Given the description of an element on the screen output the (x, y) to click on. 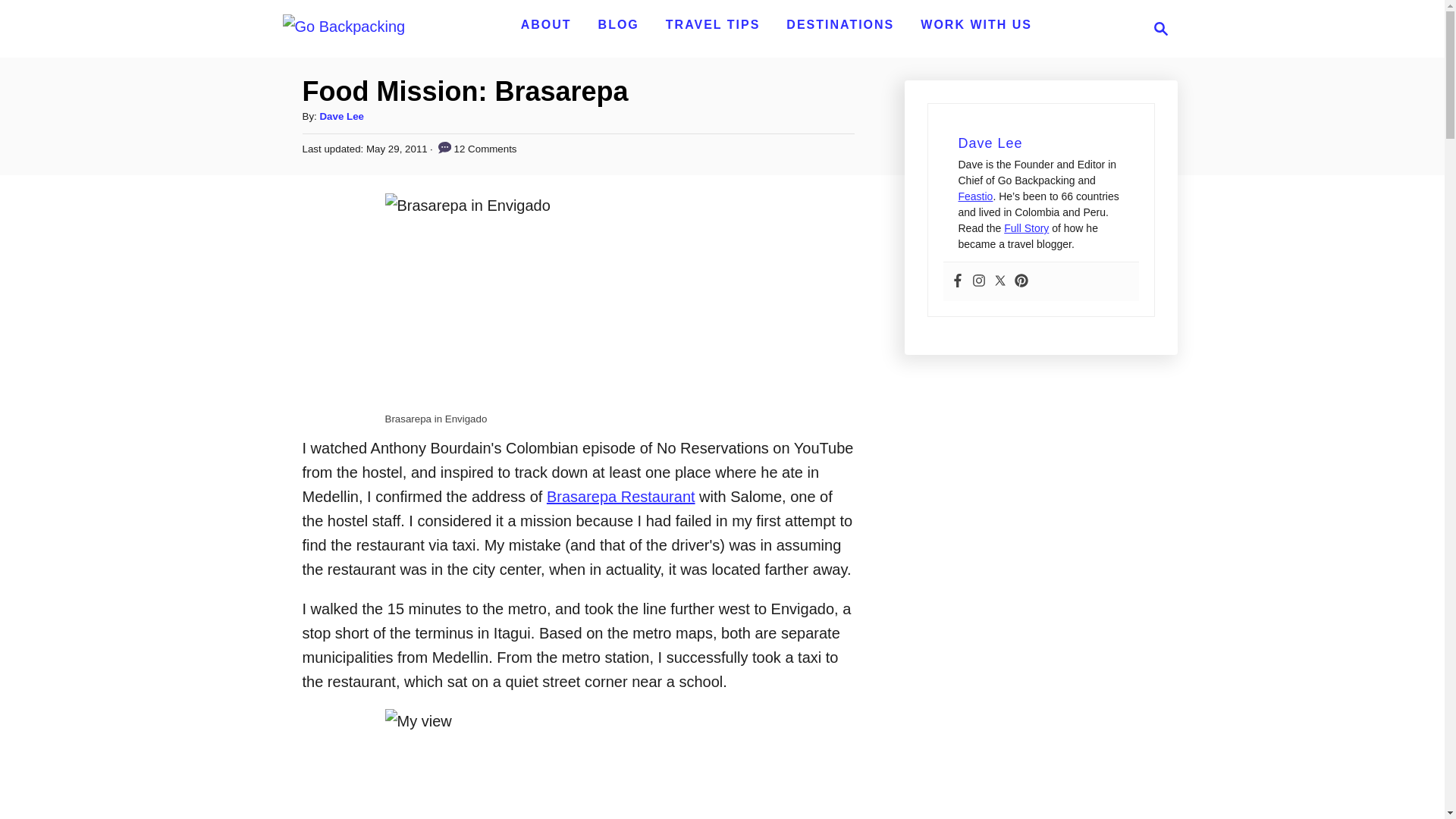
Magnifying Glass (1160, 28)
ABOUT (546, 24)
DESTINATIONS (839, 24)
Blog (618, 24)
About (546, 24)
BLOG (618, 24)
Destinations (1155, 28)
Travel Tips (839, 24)
TRAVEL TIPS (713, 24)
